Given the description of an element on the screen output the (x, y) to click on. 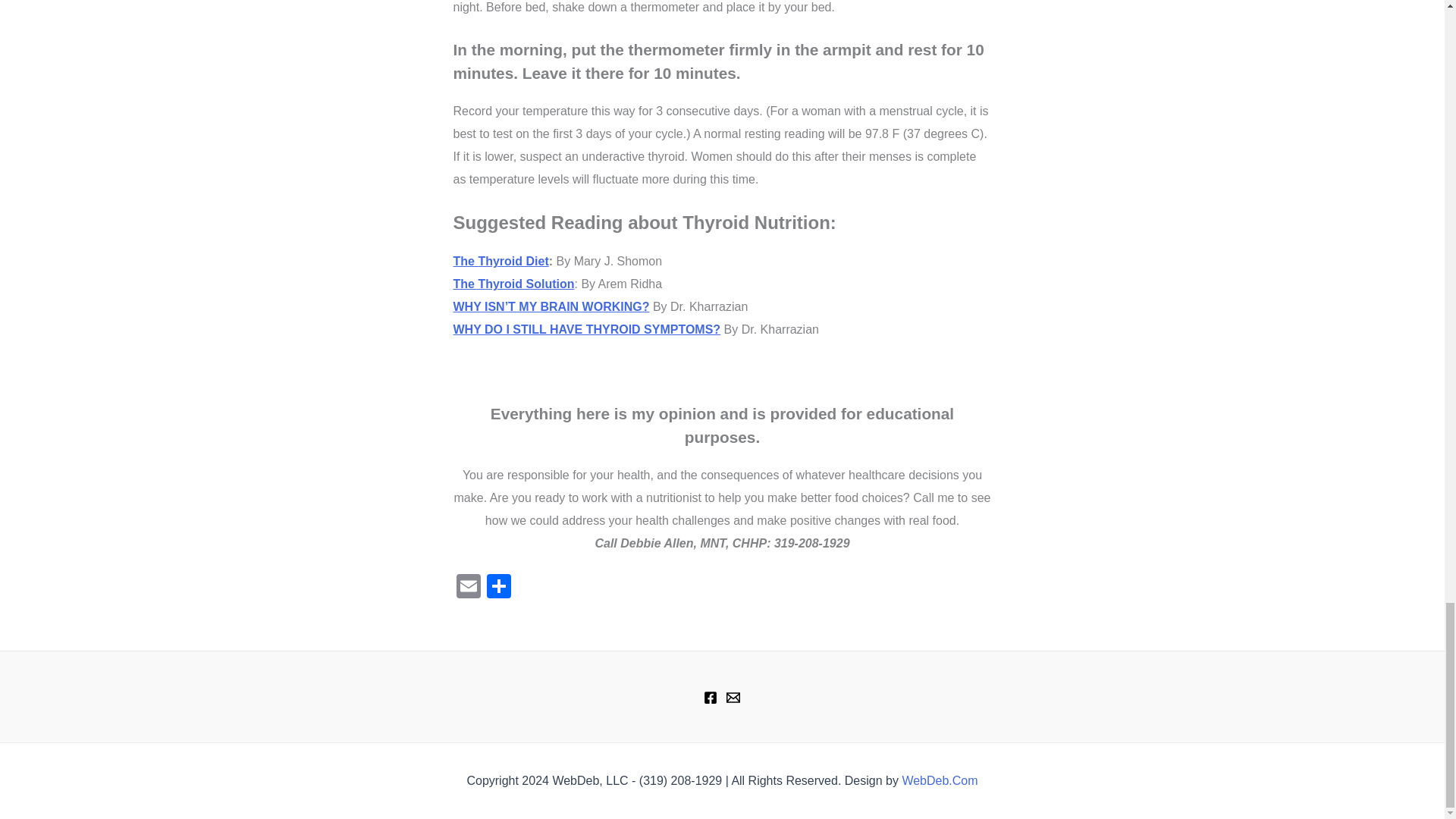
Email (467, 587)
